Given the description of an element on the screen output the (x, y) to click on. 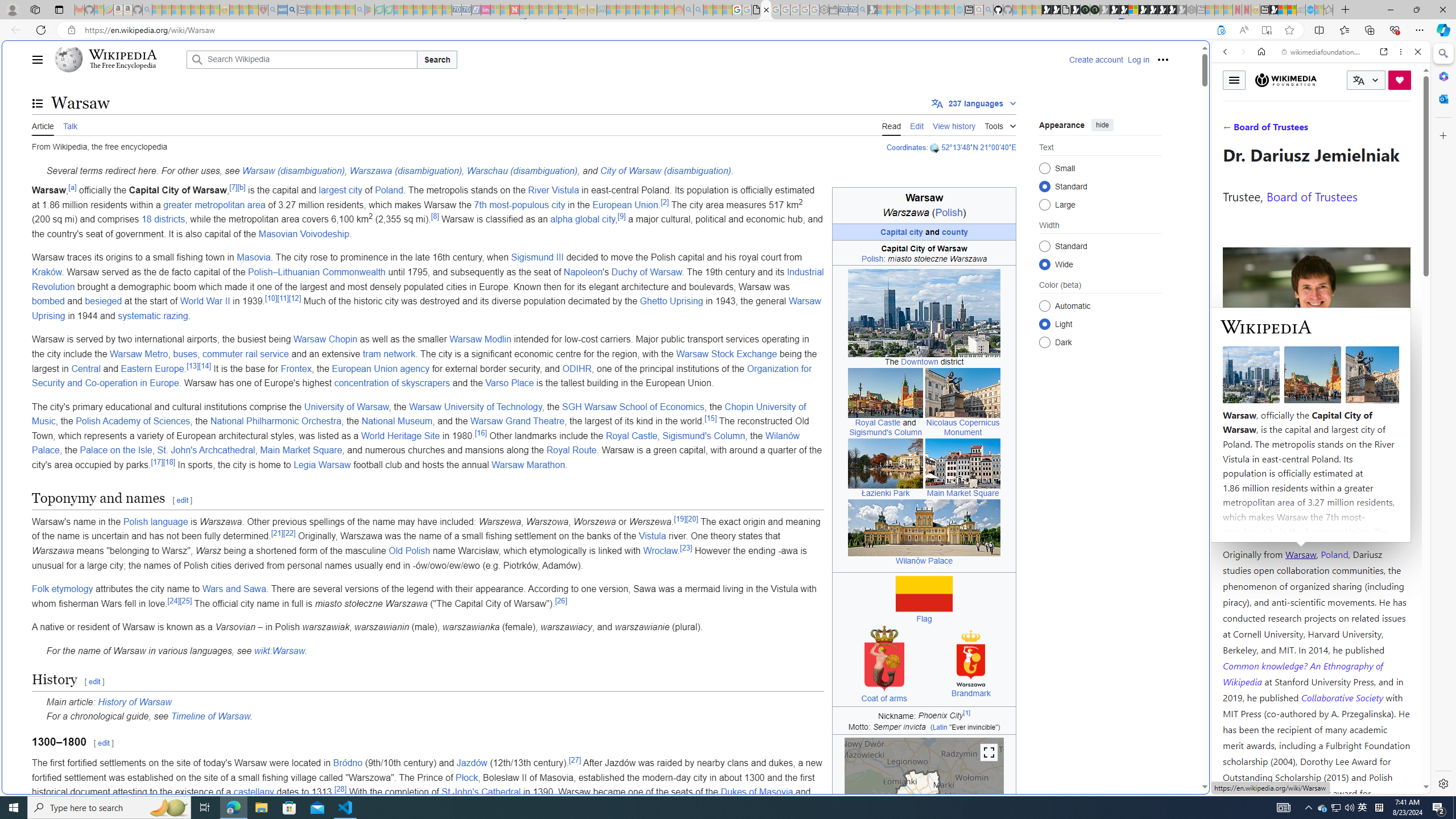
Varso Place (509, 383)
Frequently visited (965, 151)
besieged (103, 301)
[19] (678, 518)
Light (1044, 323)
[a] (72, 186)
View history (954, 124)
